Given the description of an element on the screen output the (x, y) to click on. 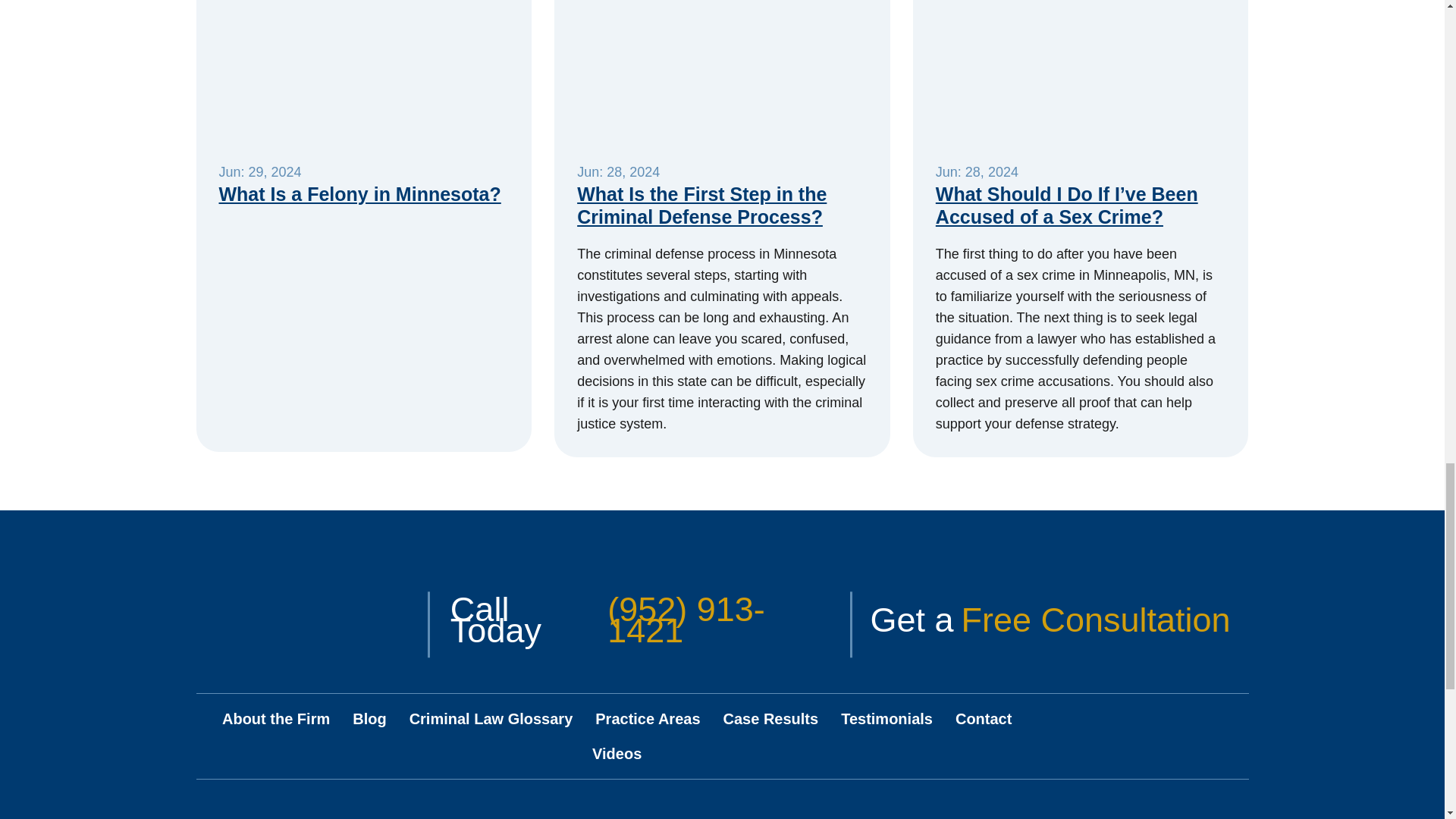
mysecend (991, 814)
myMap (452, 814)
social (1228, 720)
facebook (1176, 720)
